Given the description of an element on the screen output the (x, y) to click on. 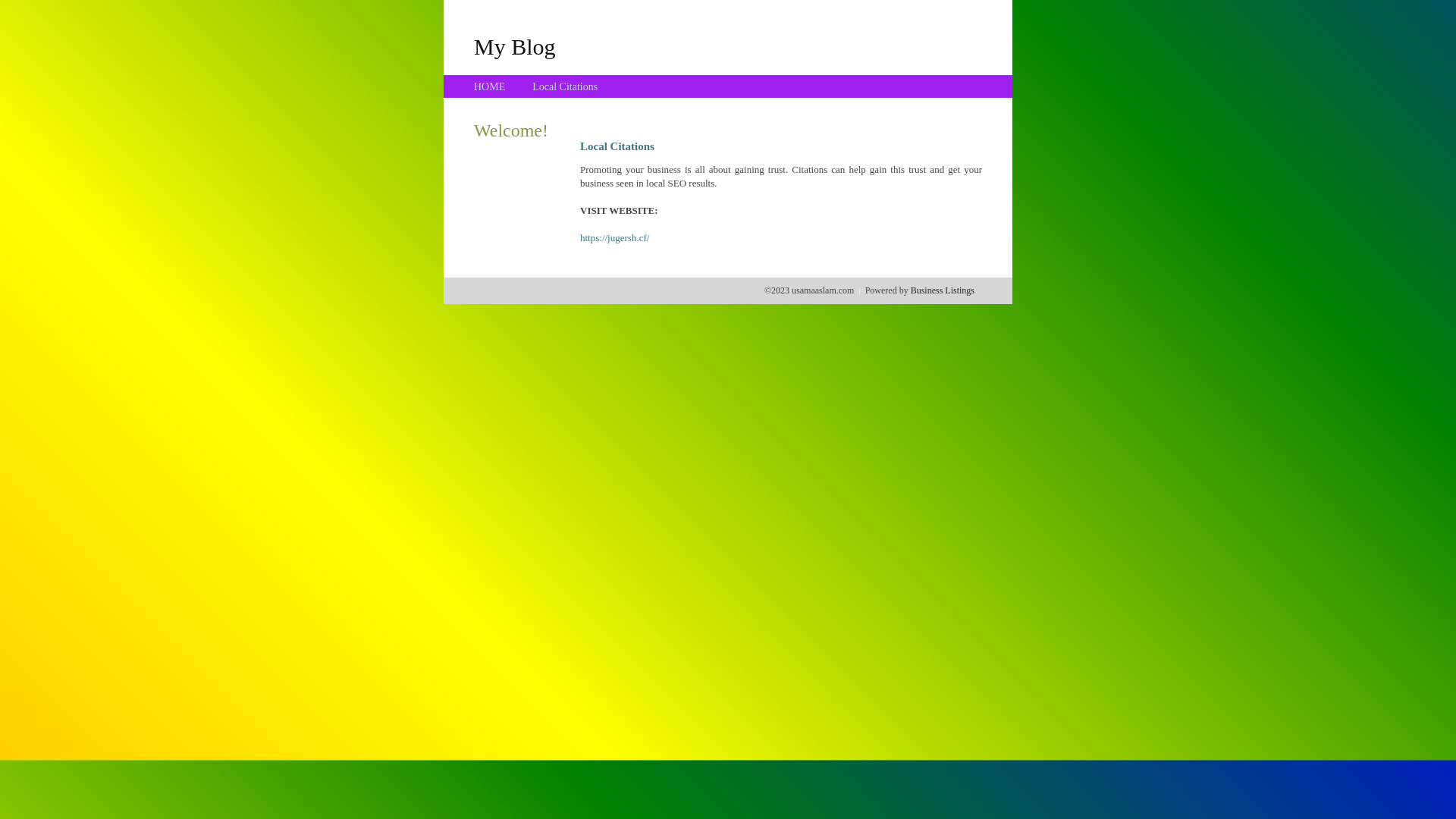
Local Citations Element type: text (564, 86)
My Blog Element type: text (514, 46)
HOME Element type: text (489, 86)
Business Listings Element type: text (942, 290)
https://jugersh.cf/ Element type: text (614, 237)
